Given the description of an element on the screen output the (x, y) to click on. 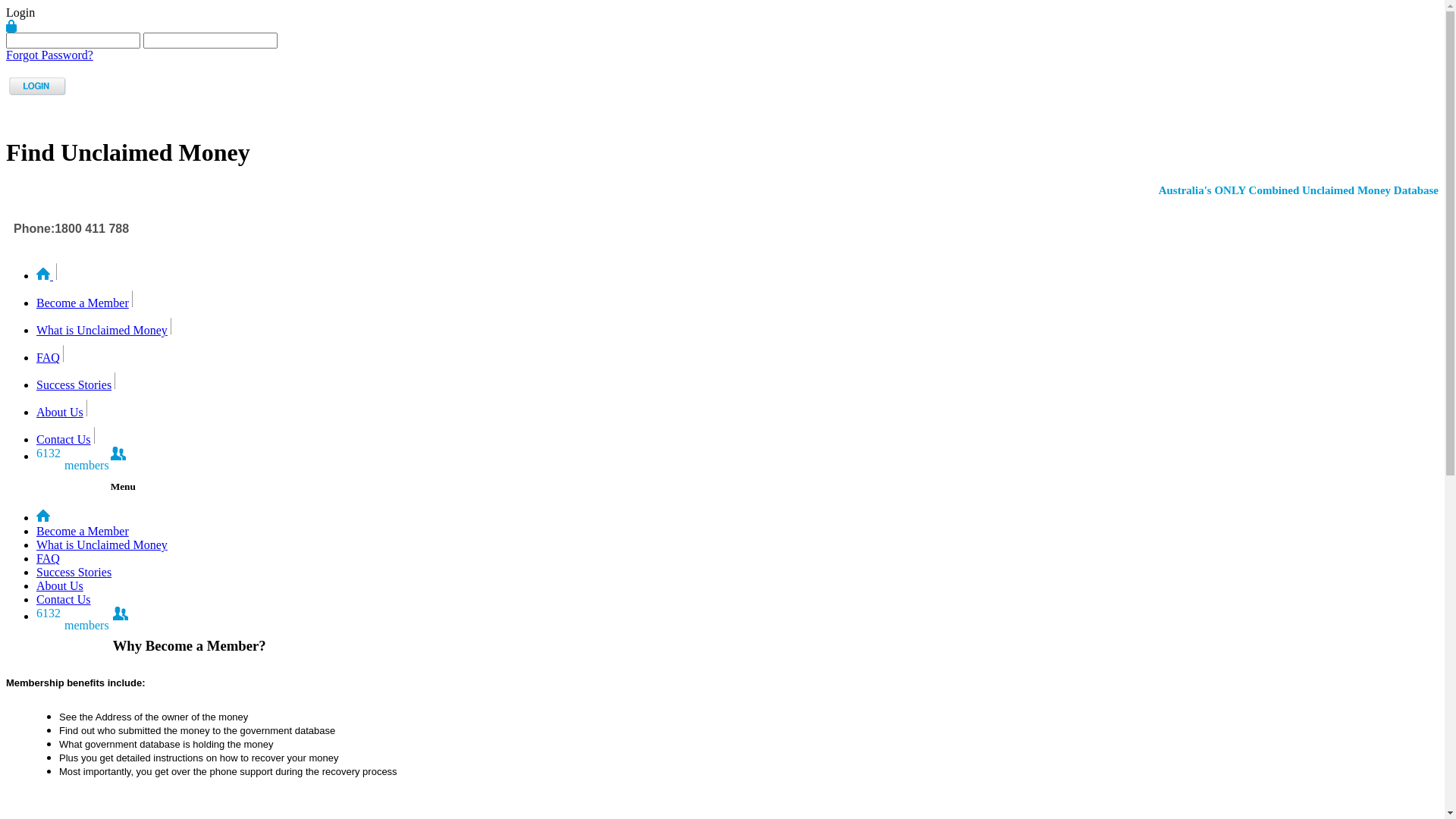
About Us Element type: text (59, 585)
Become a Member Element type: text (82, 530)
Success Stories Element type: text (737, 572)
Contact Us Element type: text (63, 439)
Contact Us Element type: text (63, 599)
FAQ Element type: text (47, 357)
6132
members Element type: text (737, 614)
Become a Member Element type: text (82, 302)
Forgot Password? Element type: text (49, 54)
About Us Element type: text (737, 586)
What is Unclaimed Money Element type: text (737, 545)
About Us Element type: text (59, 411)
Success Stories Element type: text (73, 384)
0 Element type: text (737, 516)
6132
members Element type: text (117, 455)
Success Stories Element type: text (73, 571)
6132
members Element type: text (120, 615)
Become a Member Element type: text (737, 531)
What is Unclaimed Money Element type: text (101, 329)
FAQ Element type: text (47, 558)
Contact Us Element type: text (737, 599)
FAQ Element type: text (737, 558)
What is Unclaimed Money Element type: text (101, 544)
